Given the description of an element on the screen output the (x, y) to click on. 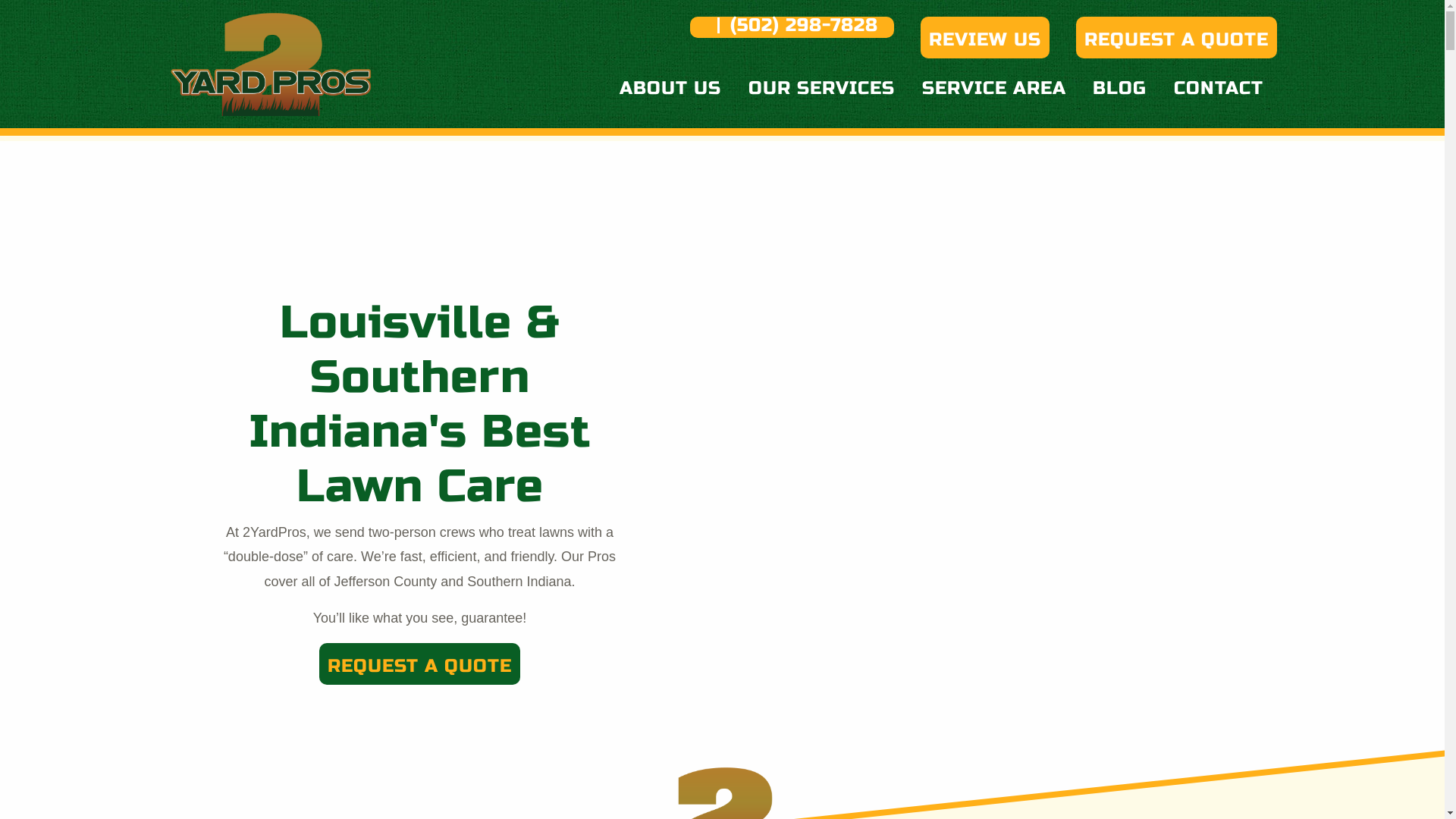
CONTACT Element type: text (1218, 86)
OUR SERVICES Element type: text (821, 86)
BLOG Element type: text (1119, 86)
(502) 298-7828 Element type: text (792, 26)
REVIEW US Element type: text (984, 37)
SERVICE AREA Element type: text (993, 86)
ABOUT US Element type: text (670, 86)
REQUEST A QUOTE Element type: text (1175, 37)
REQUEST A QUOTE Element type: text (419, 663)
